Given the description of an element on the screen output the (x, y) to click on. 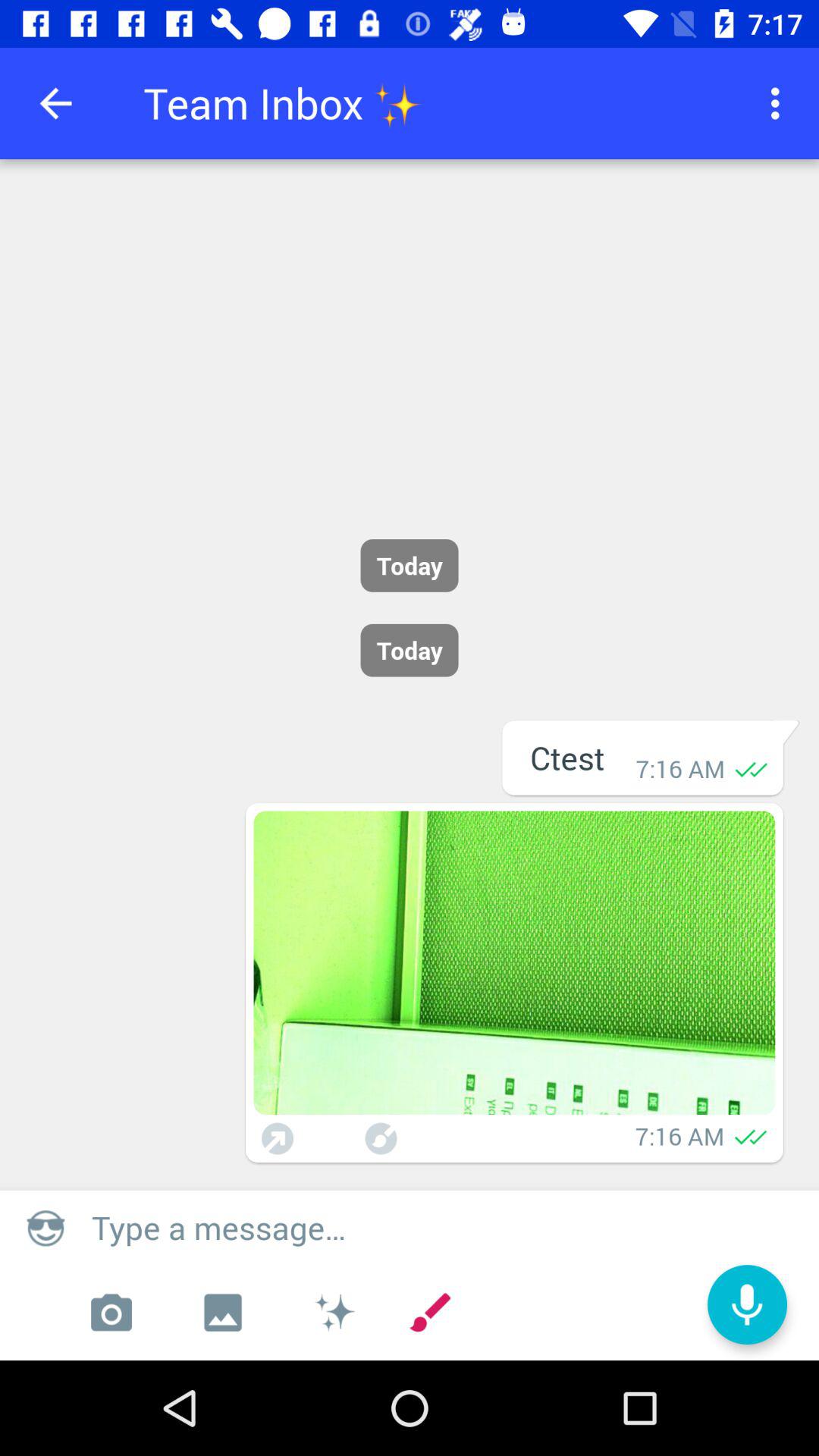
type a message (447, 1227)
